Given the description of an element on the screen output the (x, y) to click on. 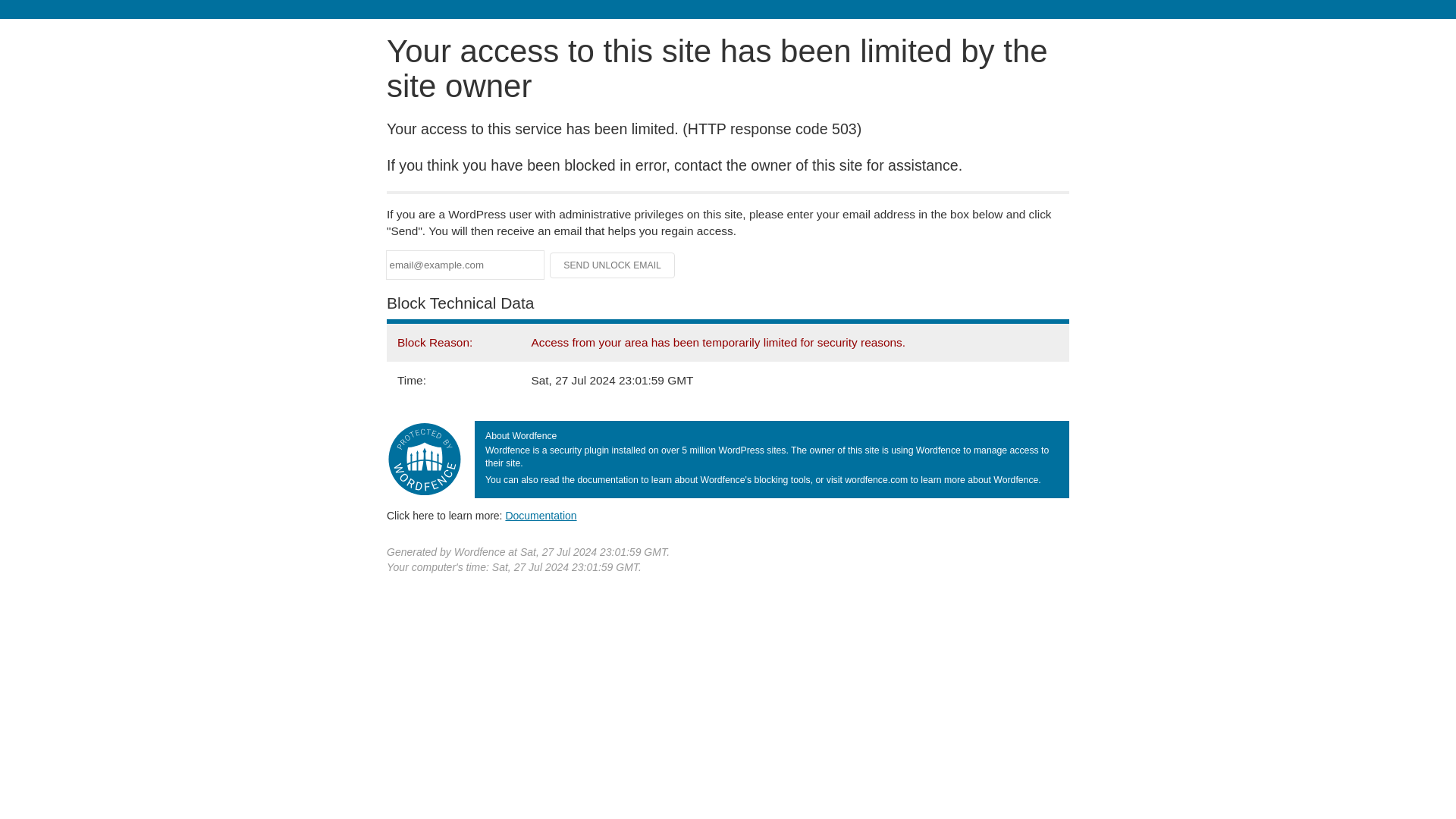
Send Unlock Email (612, 265)
Send Unlock Email (612, 265)
Documentation (540, 515)
